Given the description of an element on the screen output the (x, y) to click on. 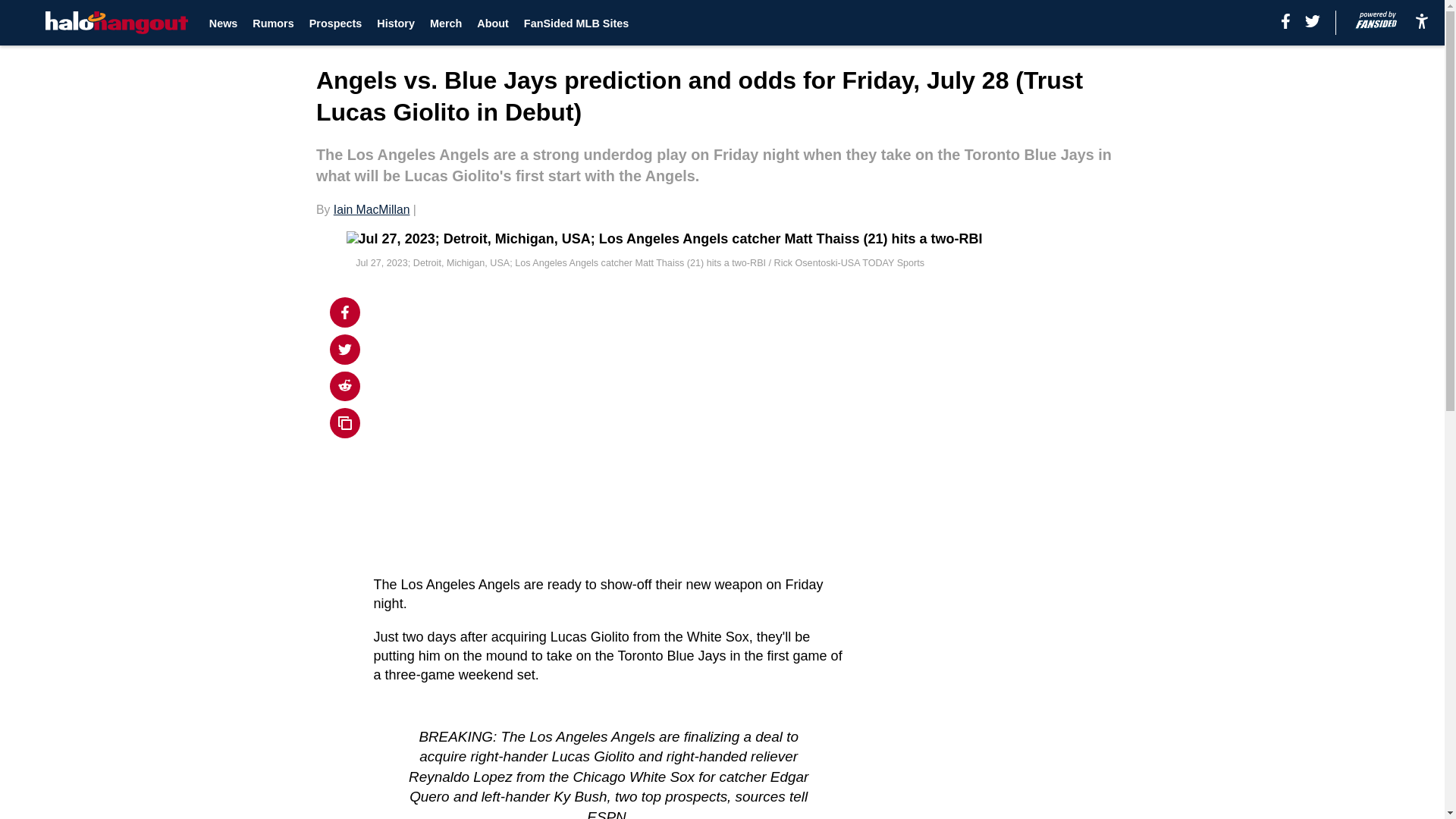
FanSided MLB Sites (576, 23)
About (492, 23)
Iain MacMillan (371, 209)
Prospects (335, 23)
Merch (445, 23)
History (395, 23)
News (223, 23)
Rumors (272, 23)
